Given the description of an element on the screen output the (x, y) to click on. 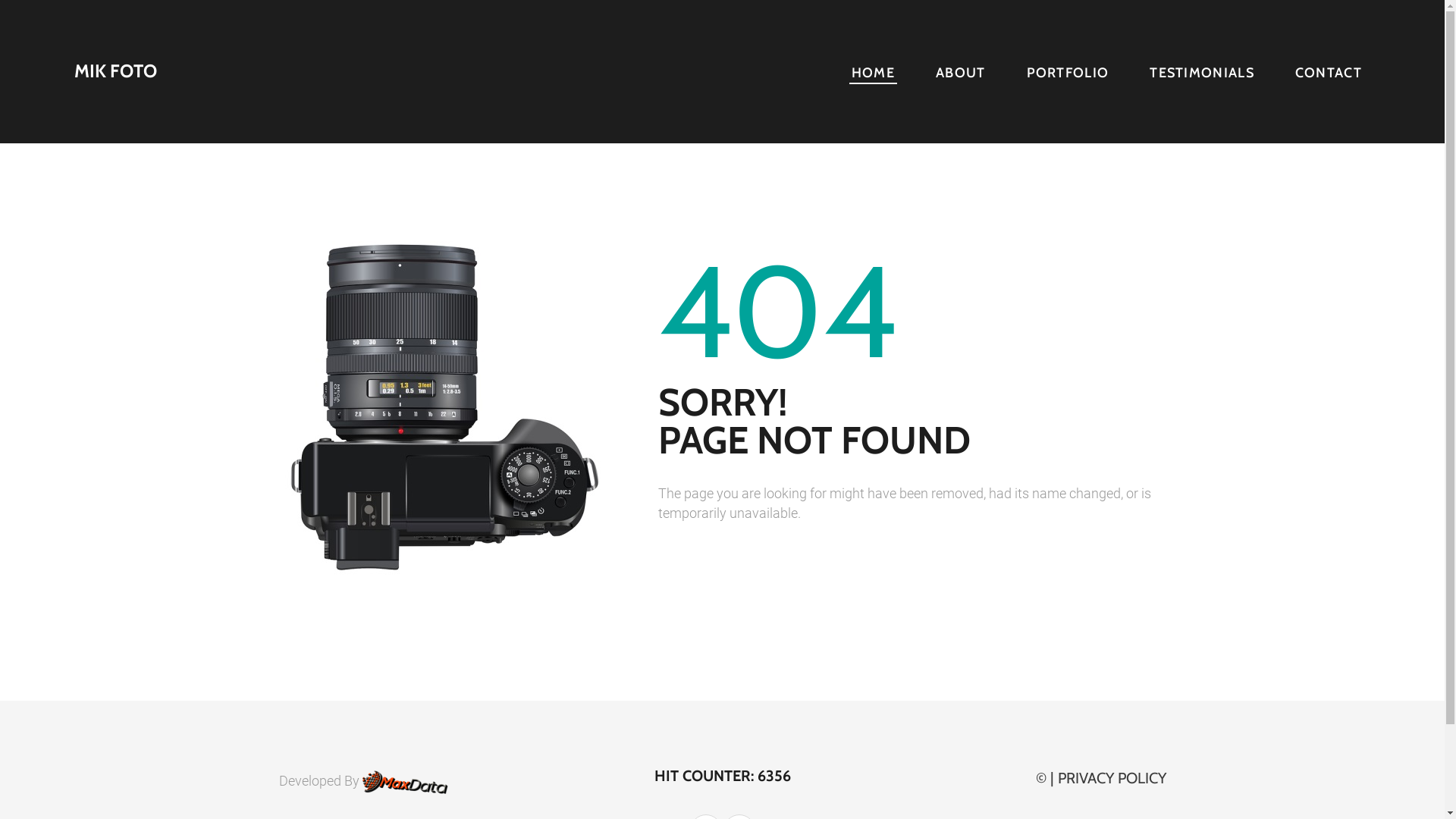
CONTACT Element type: text (1328, 72)
HOME Element type: text (872, 72)
TESTIMONIALS Element type: text (1201, 72)
PRIVACY POLICY Element type: text (1111, 777)
Developed By Element type: text (363, 780)
ABOUT Element type: text (960, 72)
PORTFOLIO Element type: text (1067, 72)
MIK FOTO Element type: text (115, 70)
